Given the description of an element on the screen output the (x, y) to click on. 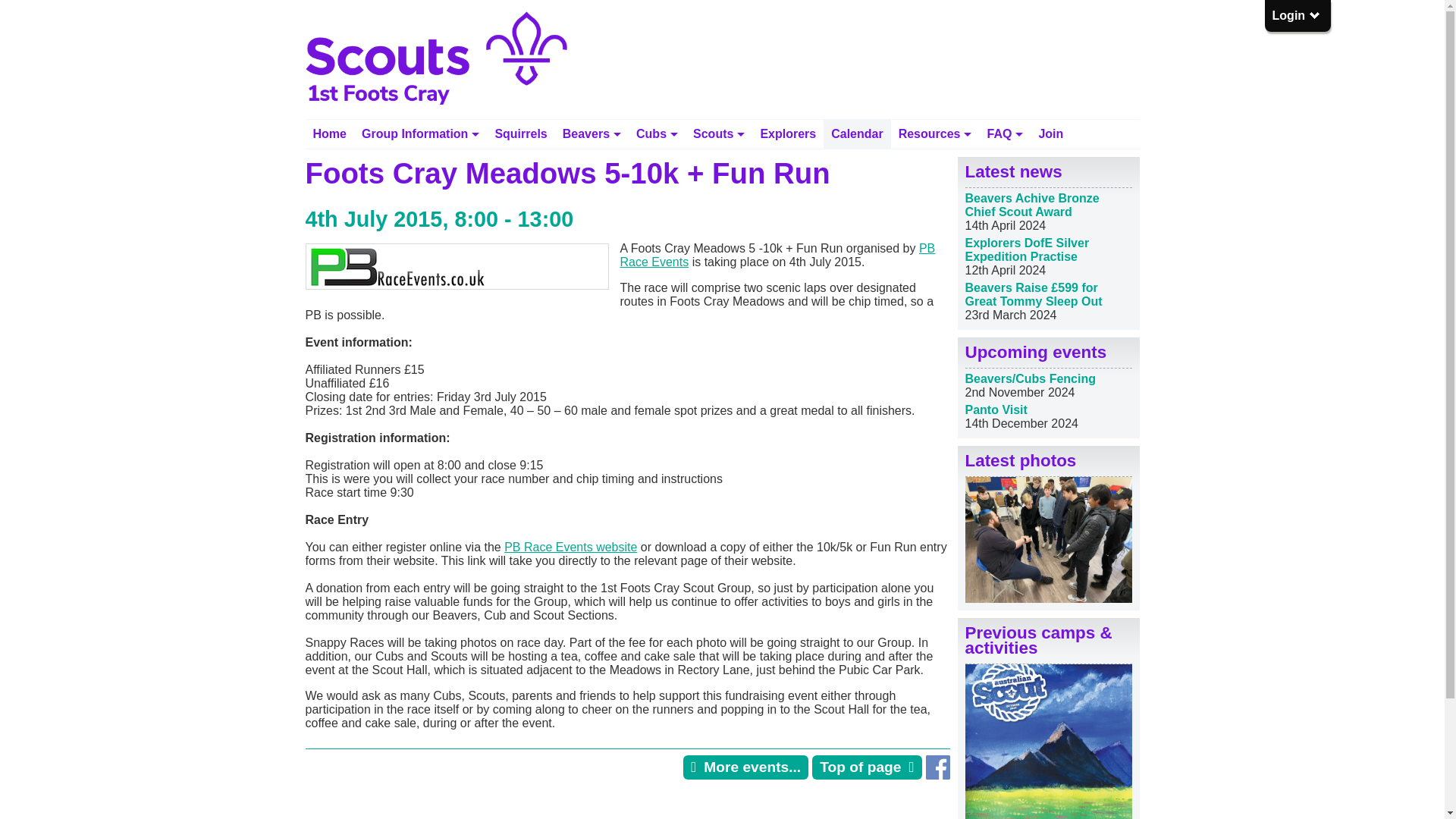
Explorers DofE Silver Expedition Practise (1026, 249)
Panto Visit (994, 409)
Login (1296, 15)
1st Foots Cray Scout Group Facebook (936, 775)
Beavers Achive Bronze Chief Scout Award (1031, 204)
1st Foots Cray Scout Group homepage (328, 133)
